Given the description of an element on the screen output the (x, y) to click on. 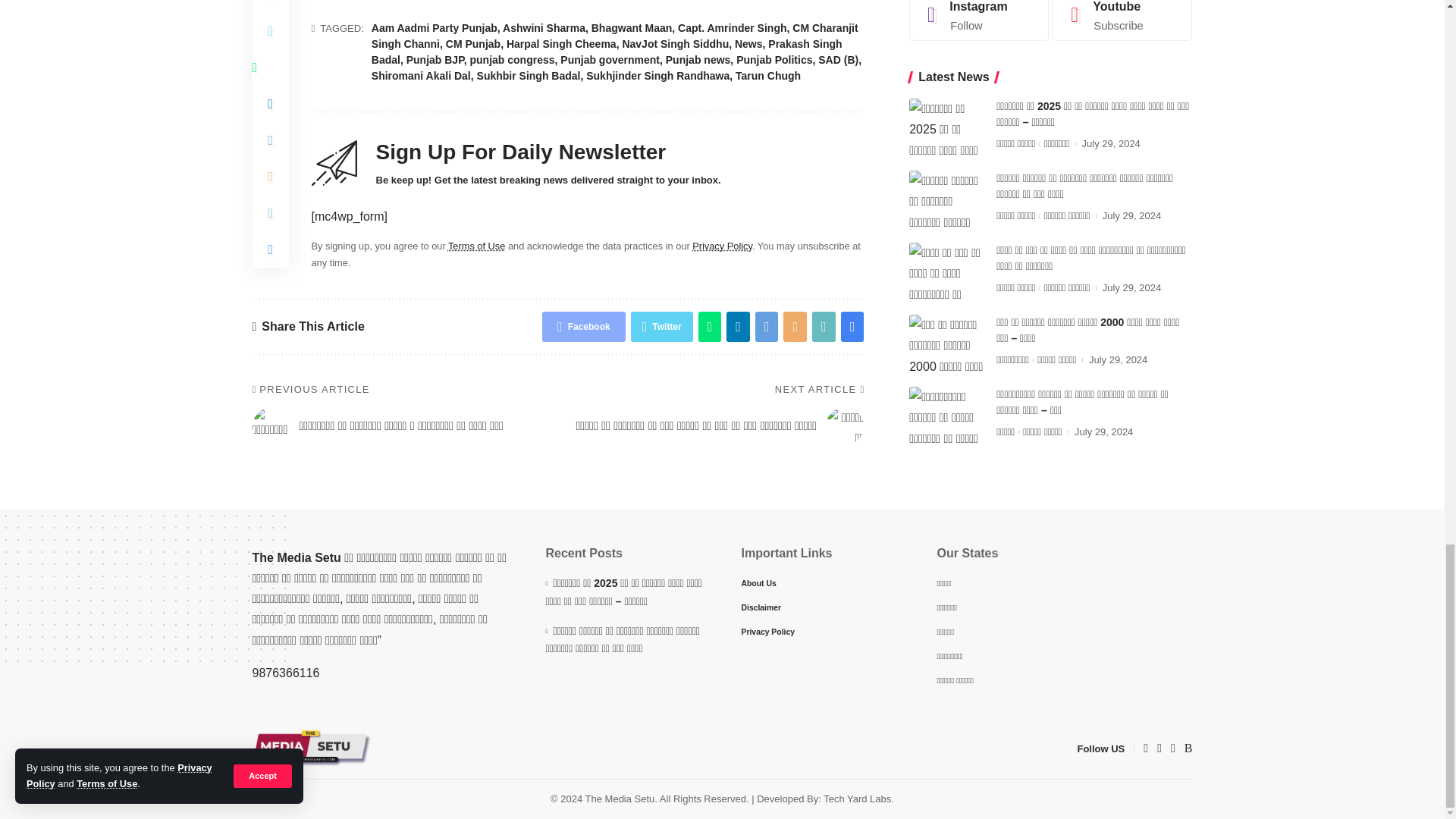
The Media Setu (311, 748)
